Given the description of an element on the screen output the (x, y) to click on. 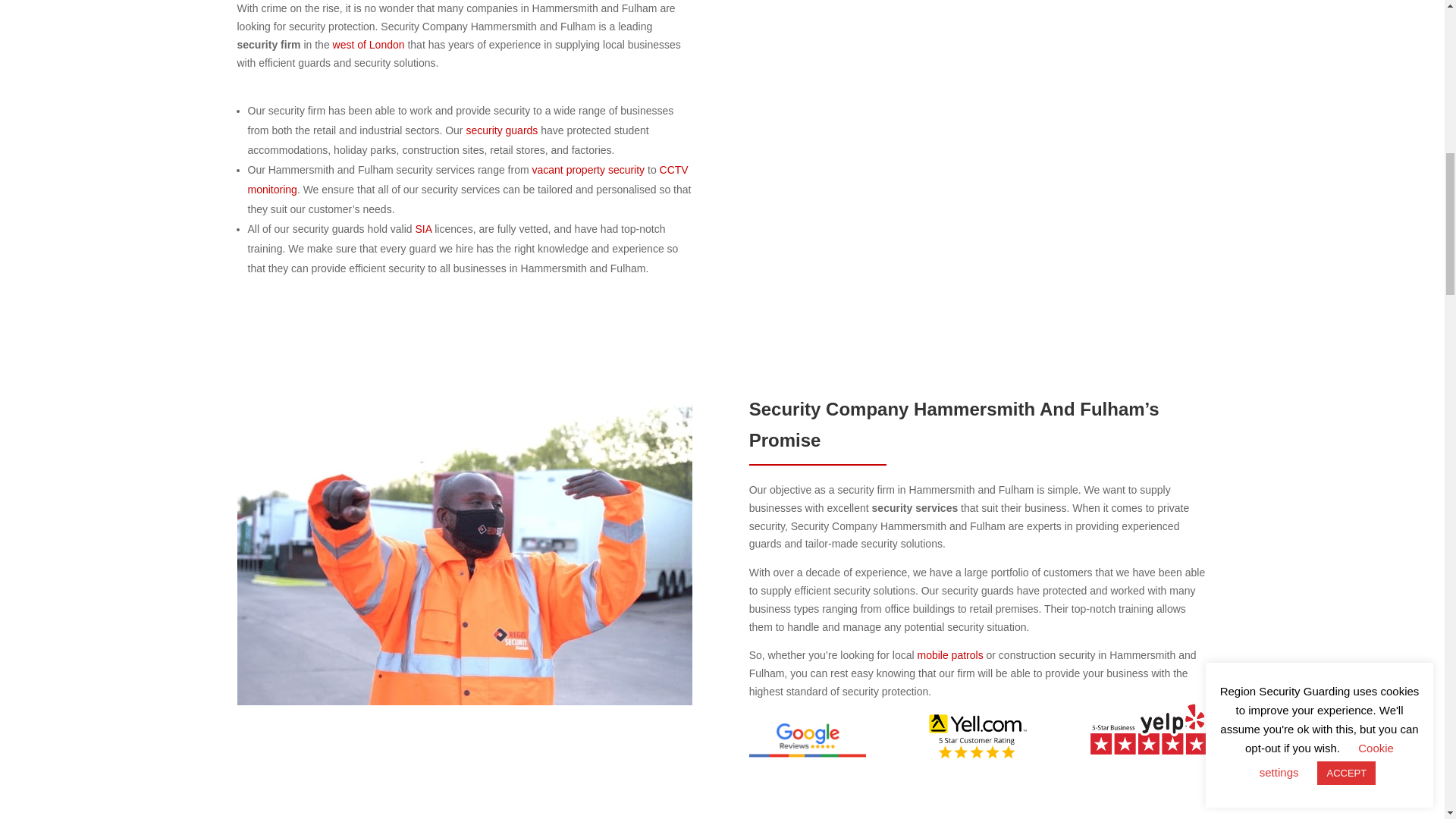
Yelp 5 Star Business (1149, 728)
Security Company Hammersmith and Fulham (978, 100)
Yell 5 Star Rating (978, 736)
Google 5 Star Review (807, 739)
